Given the description of an element on the screen output the (x, y) to click on. 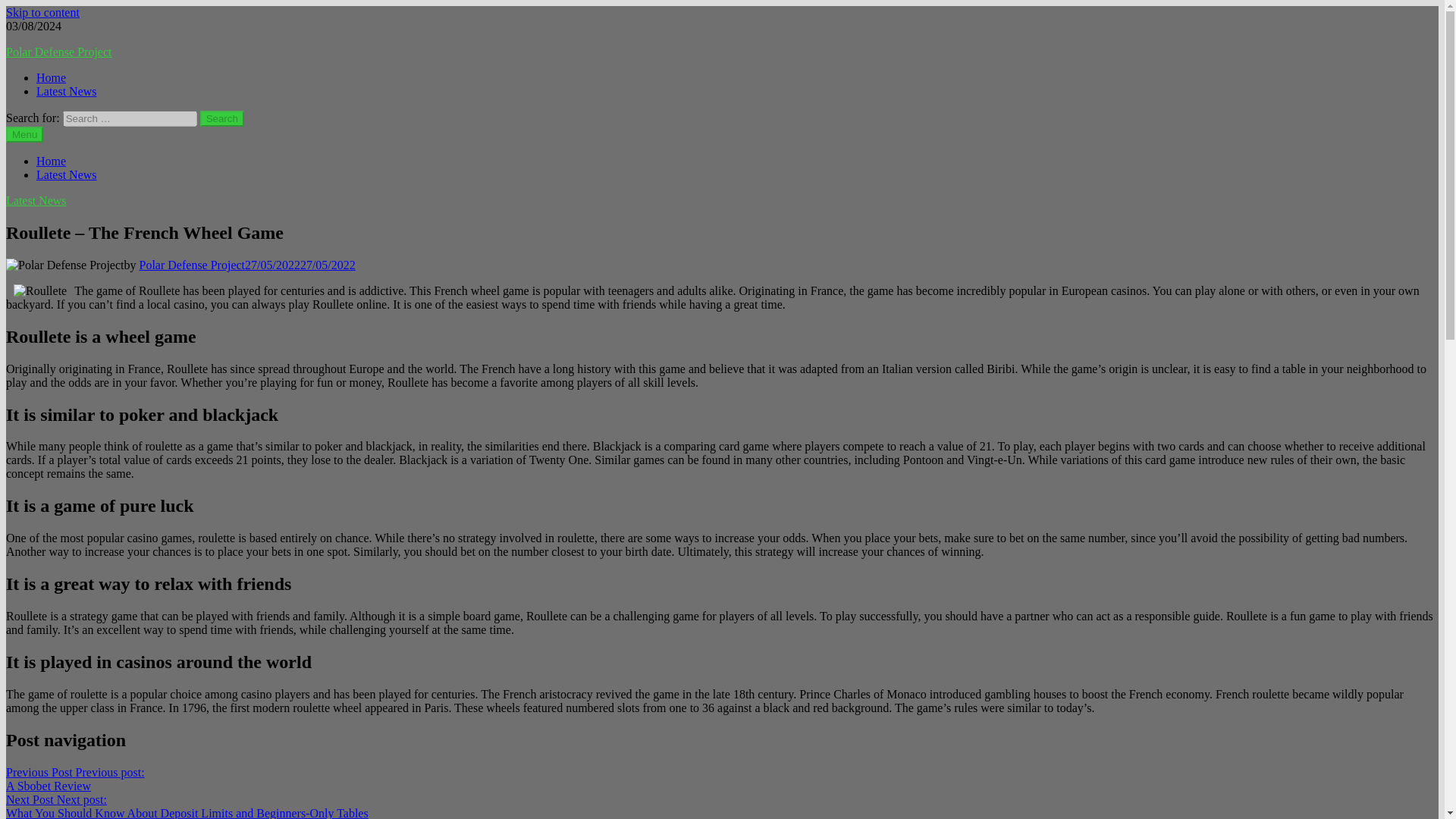
Menu (24, 134)
Latest News (66, 174)
Polar Defense Project (192, 264)
Latest News (74, 778)
Search (35, 200)
Latest News (222, 118)
Search (66, 91)
Home (222, 118)
Polar Defense Project (50, 160)
Skip to content (58, 51)
Search (42, 11)
Home (222, 118)
